Given the description of an element on the screen output the (x, y) to click on. 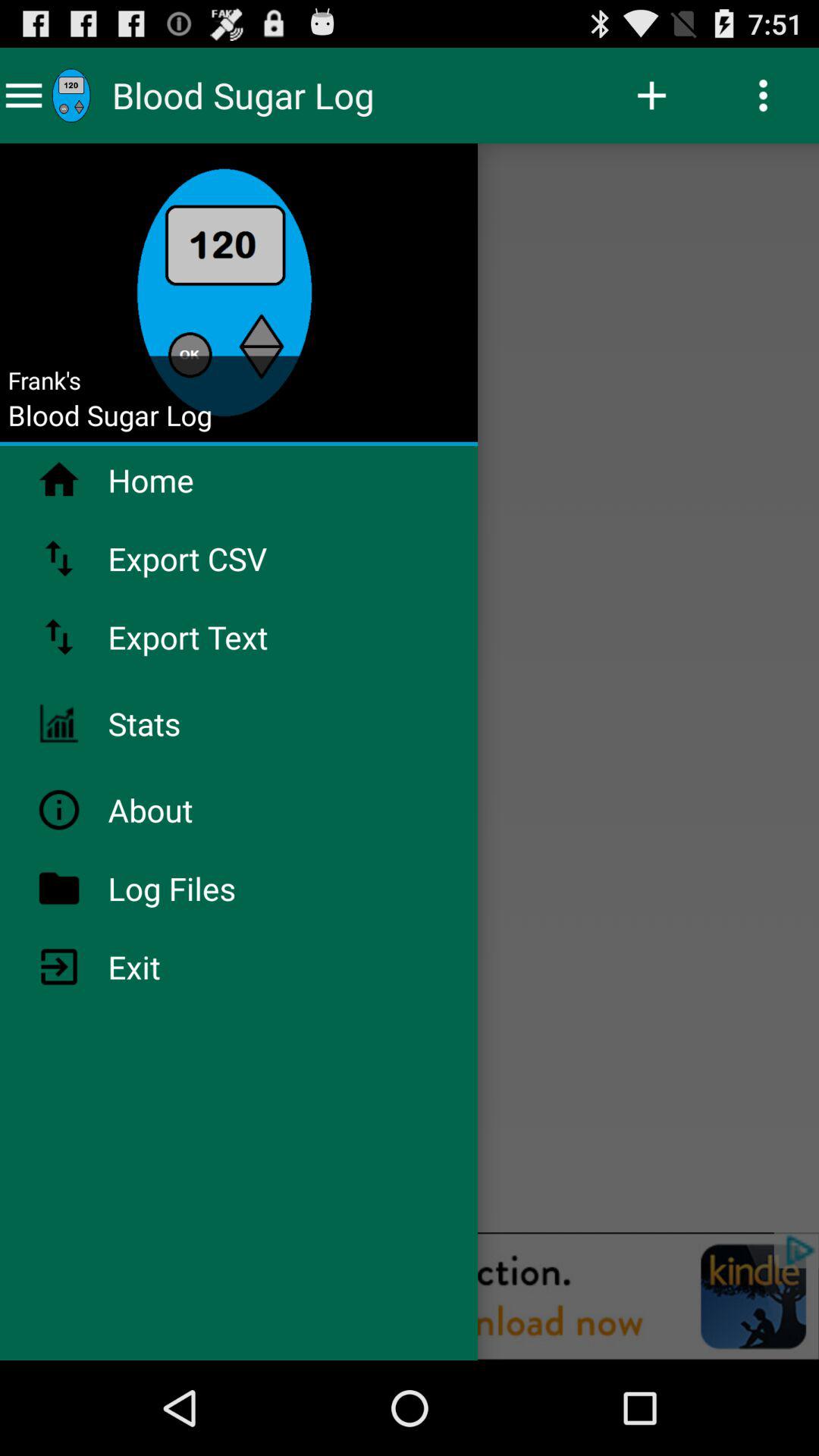
choose export csv (227, 558)
